Given the description of an element on the screen output the (x, y) to click on. 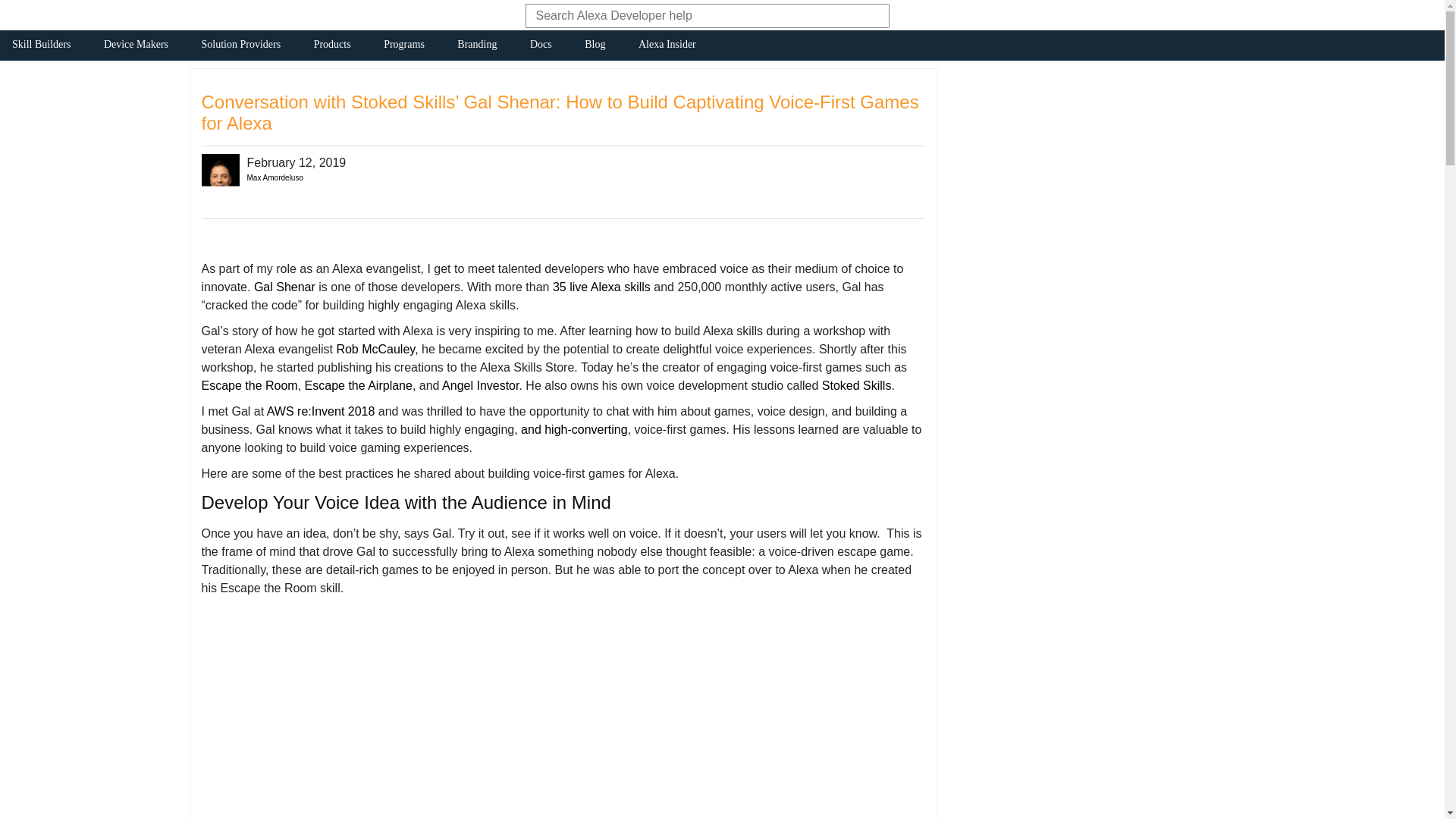
Solution Providers (241, 47)
Skill Builders (40, 47)
Device Makers (135, 47)
Insert a query. Press enter to send (688, 17)
